Given the description of an element on the screen output the (x, y) to click on. 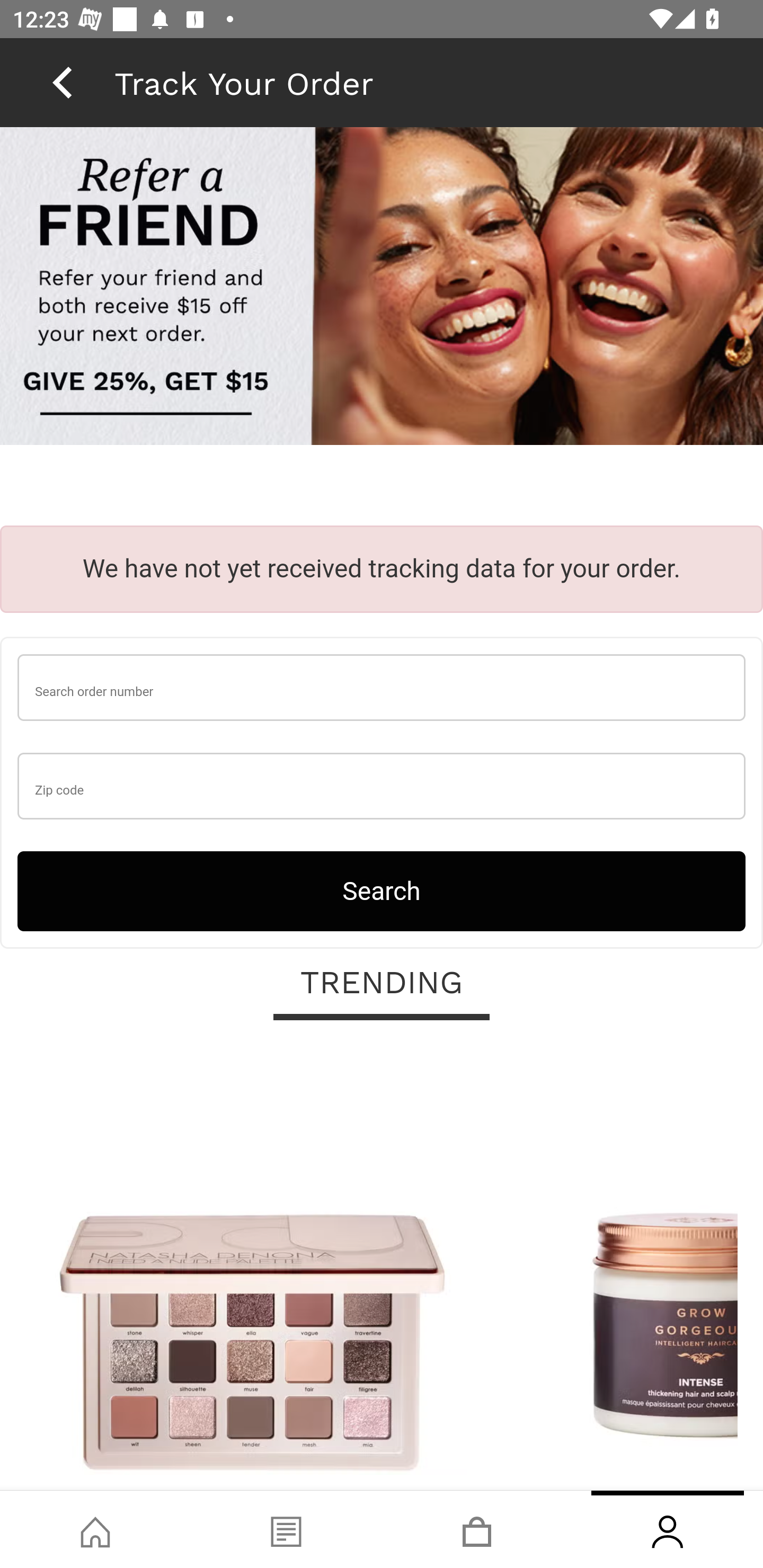
back (61, 82)
raf (381, 288)
Search (381, 890)
TRENDING (381, 983)
Natasha Denona I Need A Nude Palette (252, 1266)
Shop, tab, 1 of 4 (95, 1529)
Blog, tab, 2 of 4 (285, 1529)
Basket, tab, 3 of 4 (476, 1529)
Account, tab, 4 of 4 (667, 1529)
